Given the description of an element on the screen output the (x, y) to click on. 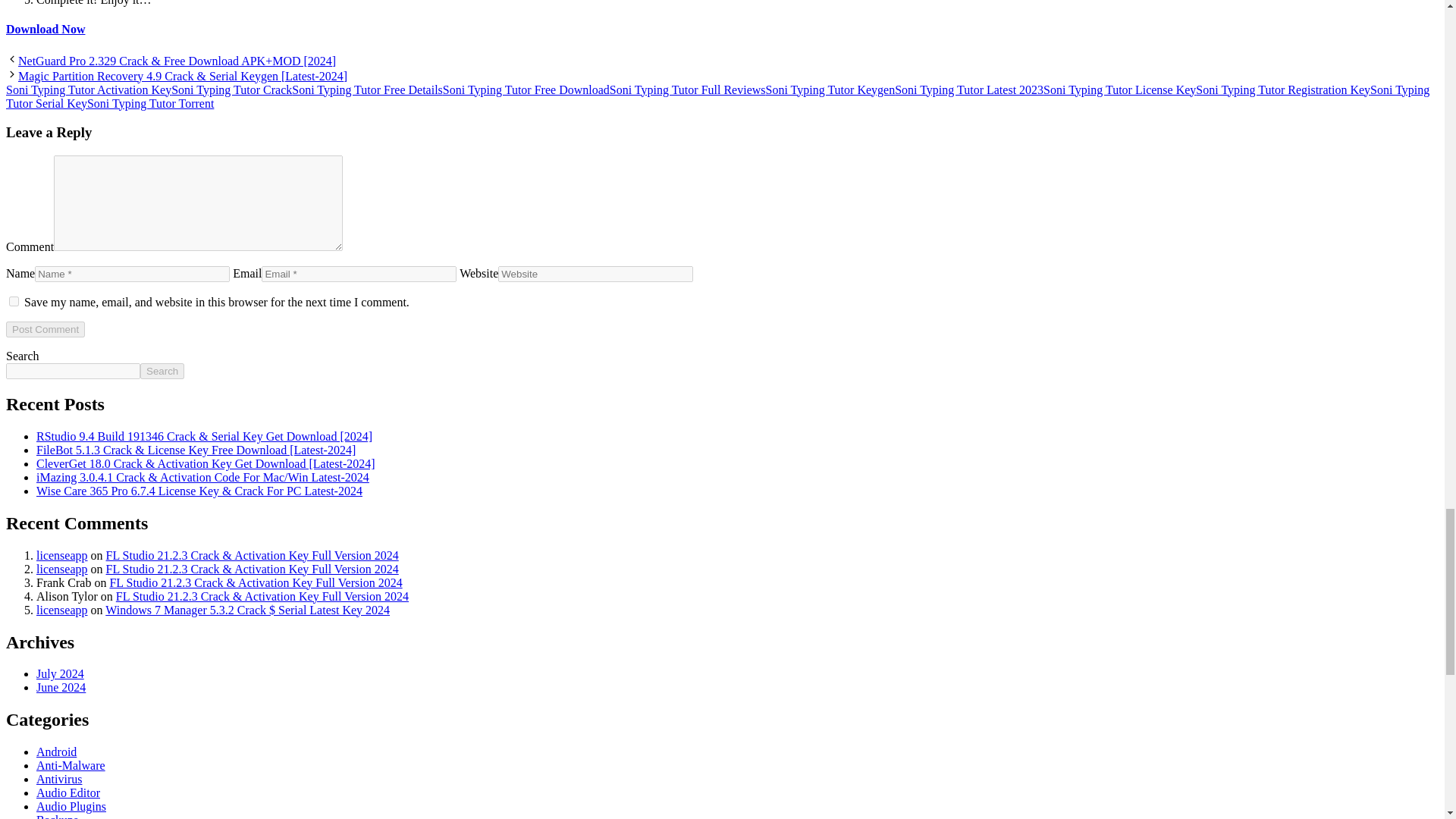
Soni Typing Tutor Registration Key (1282, 89)
Soni Typing Tutor Torrent (150, 103)
Post Comment (44, 329)
Soni Typing Tutor Latest 2023 (969, 89)
Soni Typing Tutor Free Download (526, 89)
Download Now (44, 29)
Soni Typing Tutor Keygen (830, 89)
Soni Typing Tutor Serial Key (717, 96)
yes (13, 301)
Soni Typing Tutor License Key (1119, 89)
Soni Typing Tutor Full Reviews (687, 89)
Soni Typing Tutor Activation Key (88, 89)
Soni Typing Tutor Free Details (367, 89)
Search (161, 371)
Post Comment (44, 329)
